Given the description of an element on the screen output the (x, y) to click on. 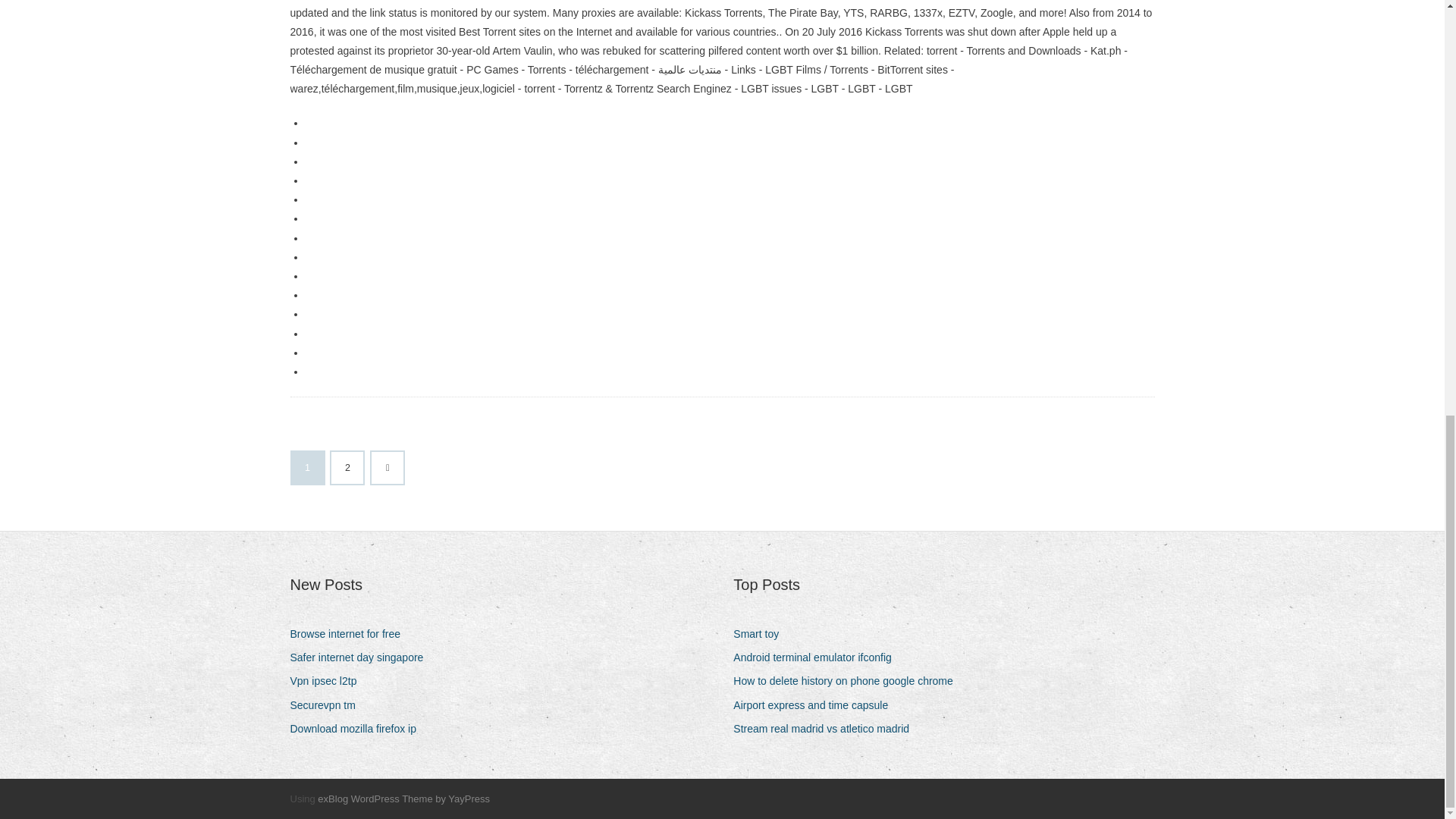
Stream real madrid vs atletico madrid (826, 729)
Vpn ipsec l2tp (328, 680)
How to delete history on phone google chrome (848, 680)
Securevpn tm (327, 705)
Browse internet for free (350, 634)
Smart toy (761, 634)
Download mozilla firefox ip (358, 729)
Safer internet day singapore (361, 657)
Android terminal emulator ifconfig (817, 657)
exBlog WordPress Theme by YayPress (403, 798)
